Given the description of an element on the screen output the (x, y) to click on. 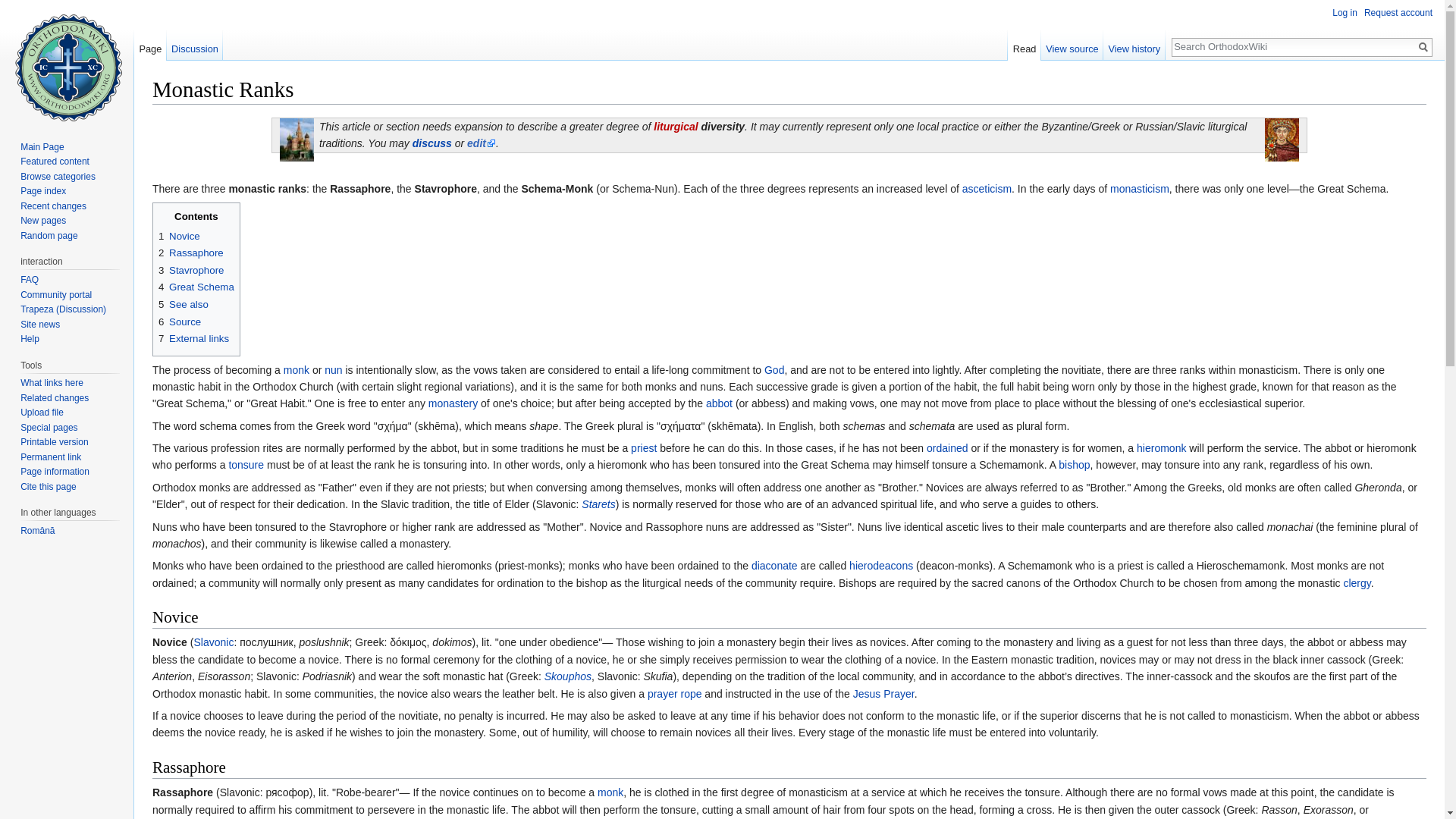
2 Rassaphore (191, 252)
clergy (1356, 582)
nun (333, 369)
Diaconate (774, 565)
4 Great Schema (196, 286)
monasticism (1139, 188)
asceticism (986, 188)
Monk (295, 369)
Starets (597, 503)
edit (481, 143)
